Given the description of an element on the screen output the (x, y) to click on. 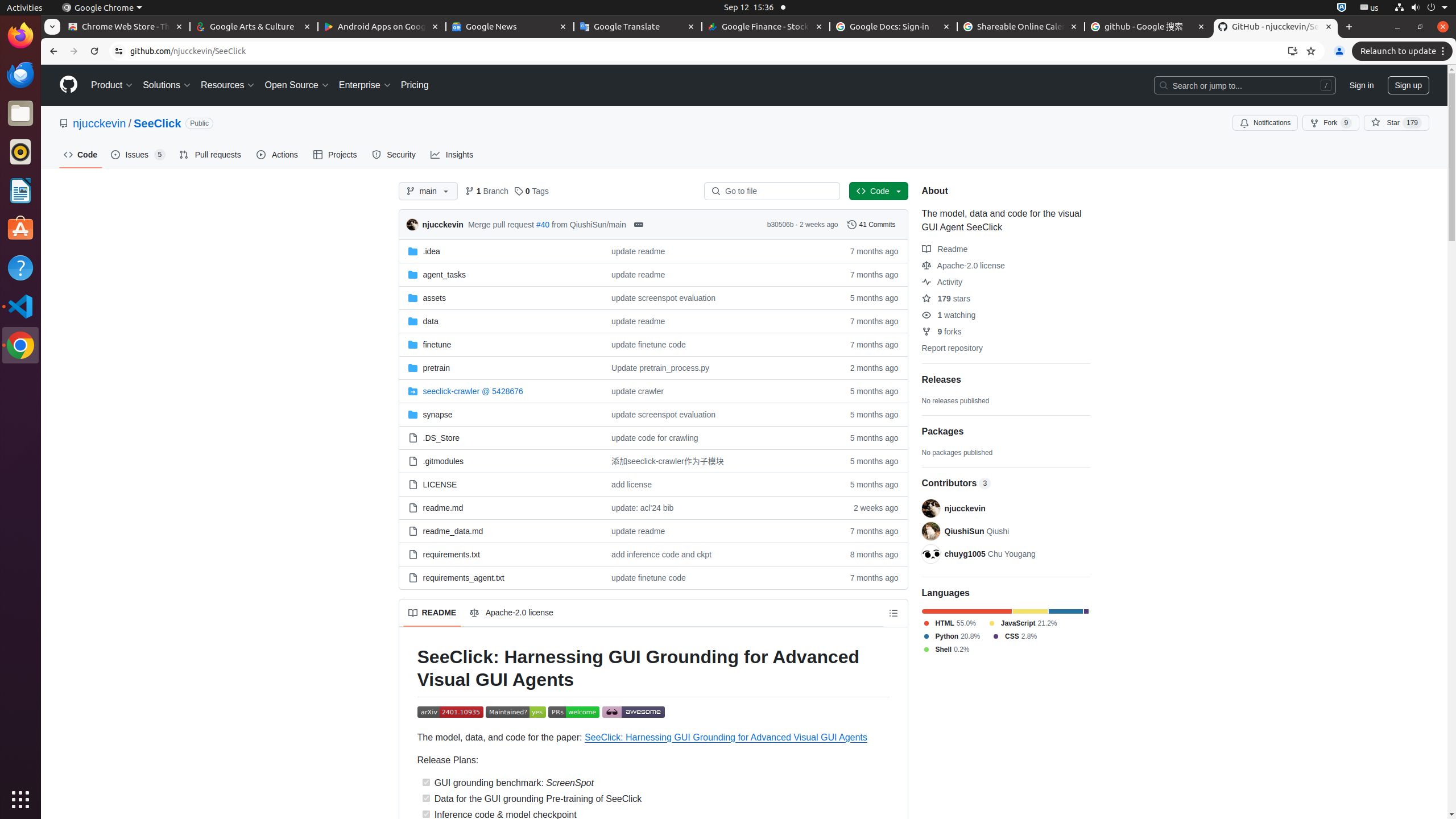
You must be signed in to change notification settings Element type: link (1264, 122)
41 Commits Element type: link (871, 224)
finetune, (Directory) Element type: link (436, 344)
Latest commit njucckevin commits by njucckevin Merge pull request #40 from QiushiSun/main Open commit details Commit b30506b  ·  2 weeks ago History 41 Commits Element type: table-cell (652, 224)
Pricing Element type: link (414, 84)
